Given the description of an element on the screen output the (x, y) to click on. 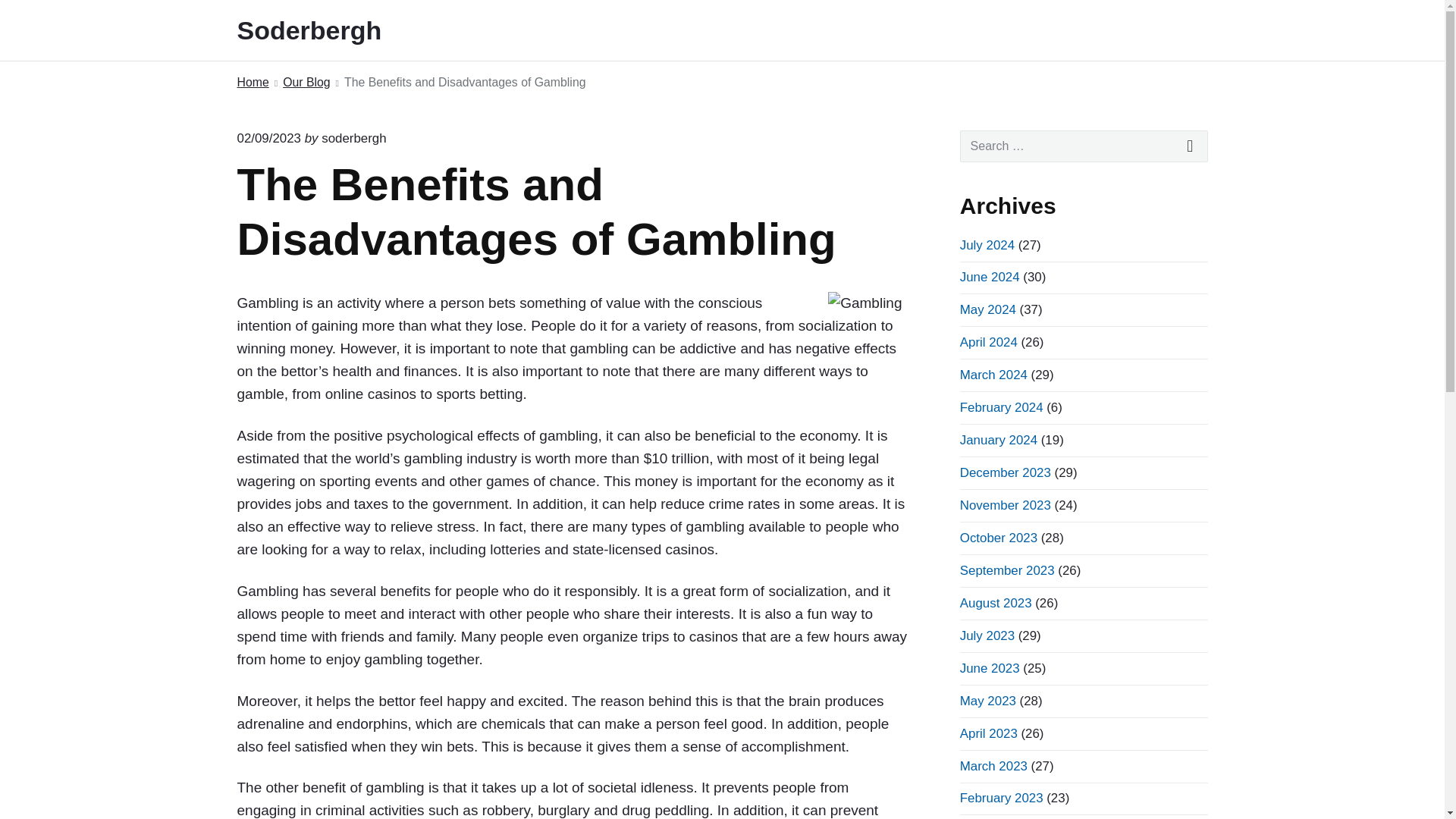
September 2023 (1006, 570)
Posts by soderbergh (353, 138)
January 2024 (997, 440)
July 2024 (986, 245)
July 2023 (986, 635)
soderbergh (353, 138)
December 2023 (1005, 472)
Soderbergh (329, 30)
March 2024 (993, 374)
February 2024 (1001, 407)
June 2024 (989, 277)
November 2023 (1005, 504)
February 2023 (1001, 798)
April 2023 (988, 733)
October 2023 (997, 537)
